Given the description of an element on the screen output the (x, y) to click on. 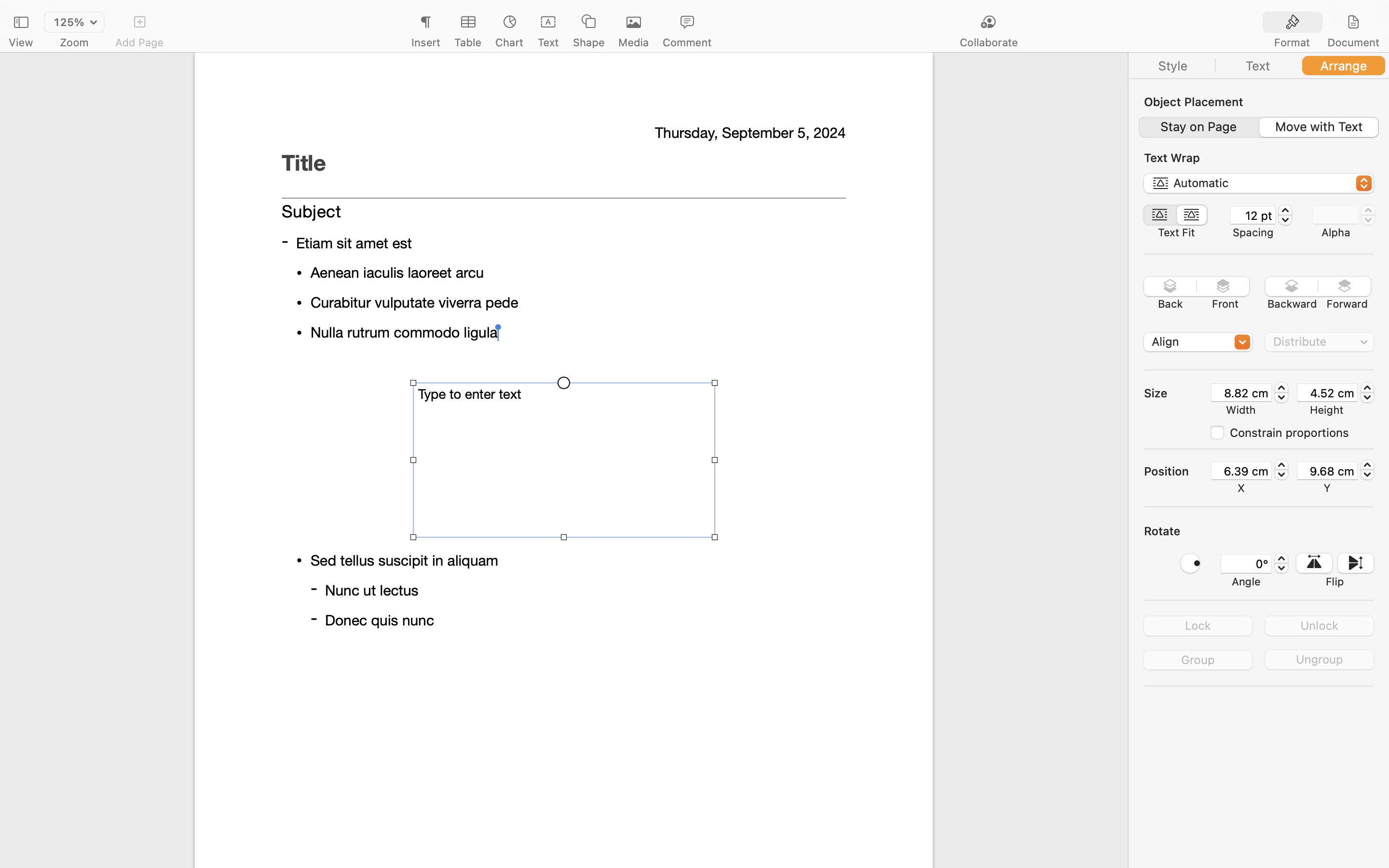
274.40000000000003 Element type: AXIncrementor (1367, 469)
Text Wrap Element type: AXStaticText (1171, 157)
Automatic Element type: AXPopUpButton (1259, 184)
Angle Element type: AXStaticText (1245, 581)
Document Element type: AXStaticText (1352, 42)
